Given the description of an element on the screen output the (x, y) to click on. 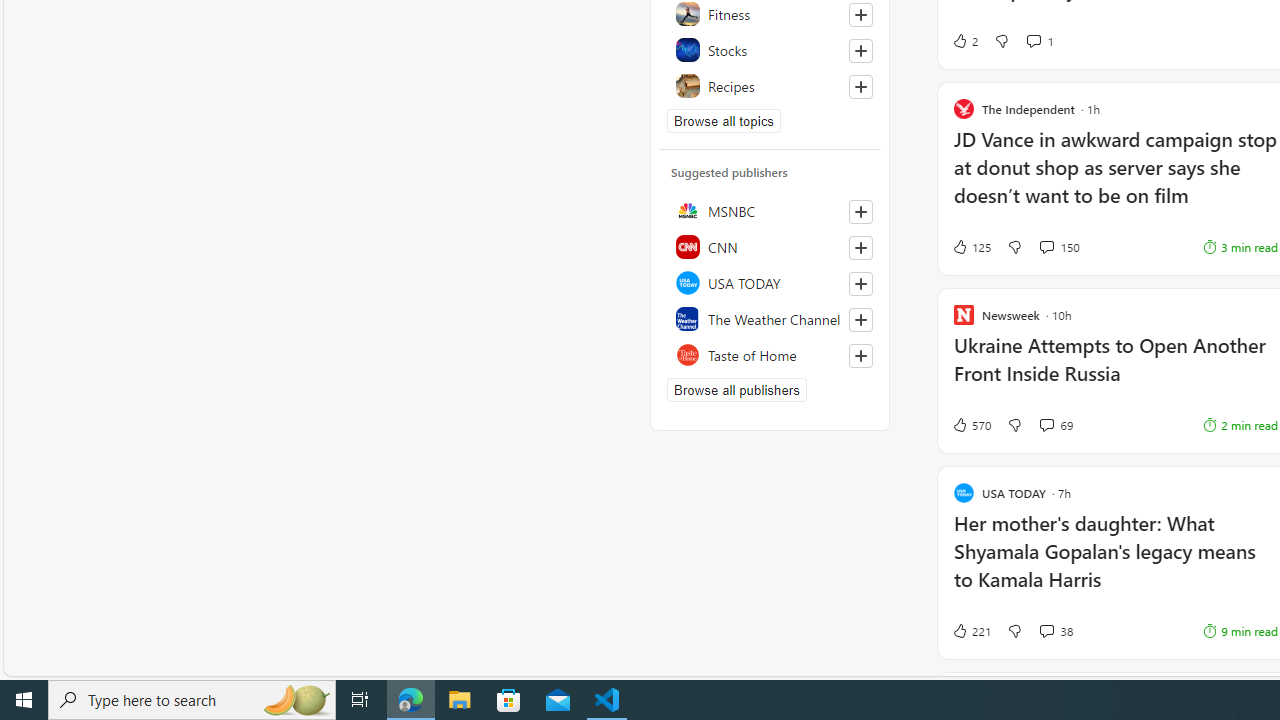
221 Like (970, 630)
MSNBC (770, 210)
2 Like (964, 40)
Follow this source (860, 355)
The Weather Channel (770, 318)
Follow this source (860, 355)
570 Like (970, 425)
View comments 150 Comment (1046, 246)
View comments 38 Comment (1046, 630)
